Given the description of an element on the screen output the (x, y) to click on. 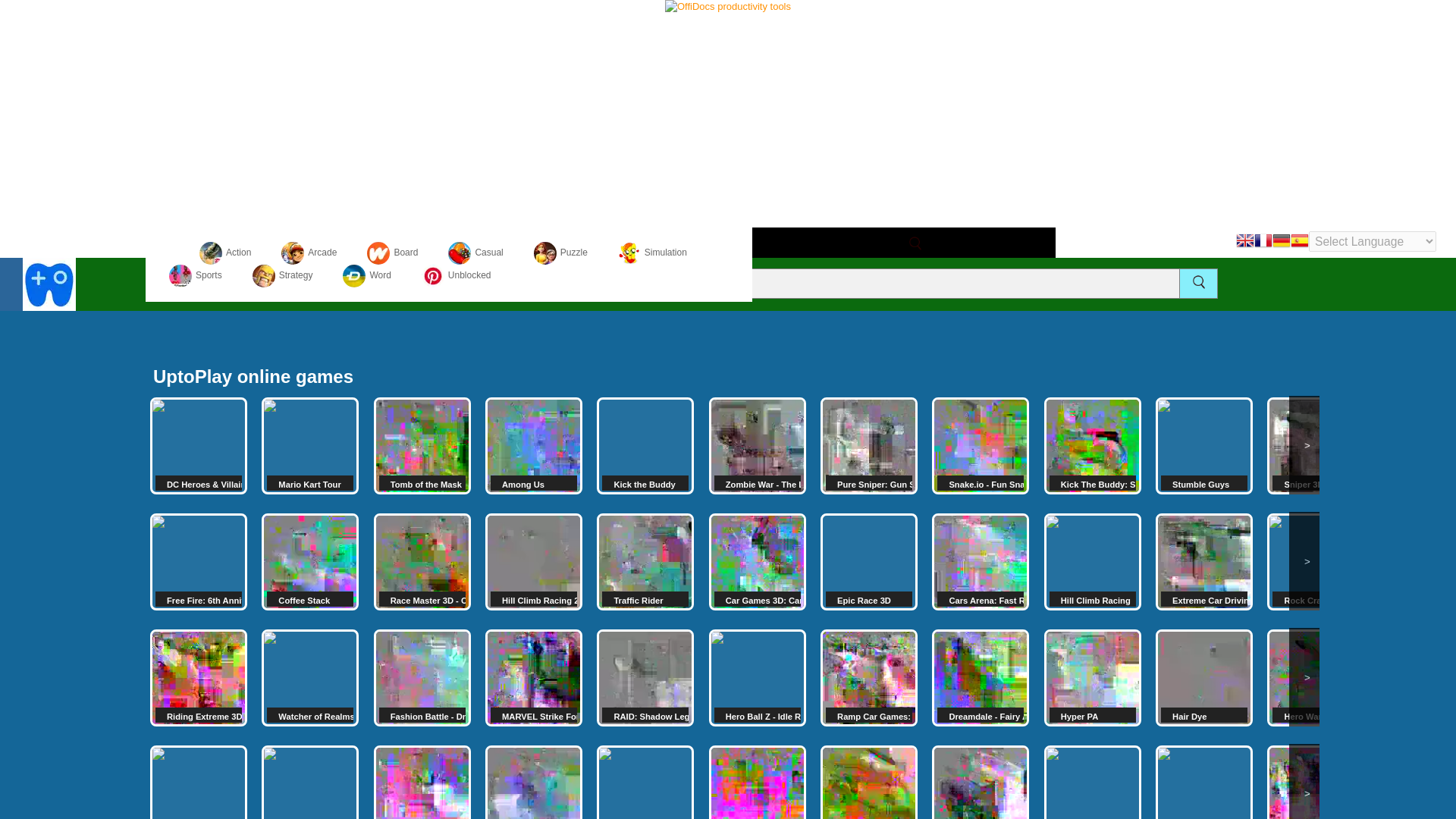
Mario Kart Tour (310, 445)
Snake.io - Fun Snake .io Games (980, 445)
Casual games online (475, 252)
search (915, 243)
Stumble Guys (1204, 445)
Zombie War - The Last Survivor (757, 445)
Coffee Stack (310, 561)
Casual (475, 252)
Race Master 3D - Car Racing (422, 561)
Word games online (366, 275)
